Given the description of an element on the screen output the (x, y) to click on. 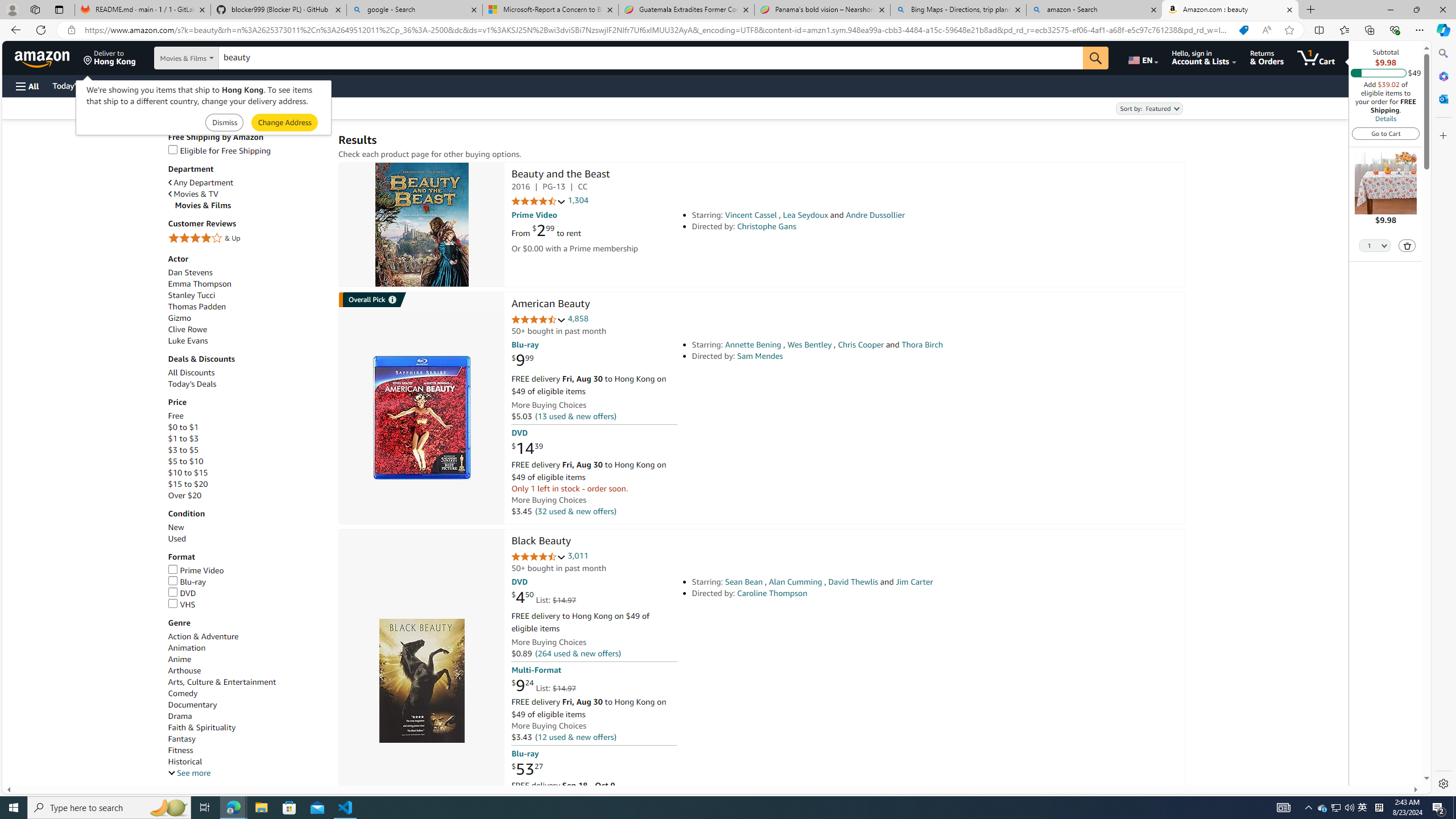
Faith & Spirituality (201, 727)
Luke Evans (187, 340)
Directed by: Sam Mendes (850, 355)
$3 to $5 (183, 449)
Christophe Gans (766, 226)
Today's Deals (247, 384)
VHS (247, 604)
$14.39 (527, 448)
$9.24 List: $14.97 (543, 685)
Customer Service (145, 85)
$3 to $5 (247, 450)
Documentary (247, 705)
Deliver to Hong Kong (109, 57)
